Given the description of an element on the screen output the (x, y) to click on. 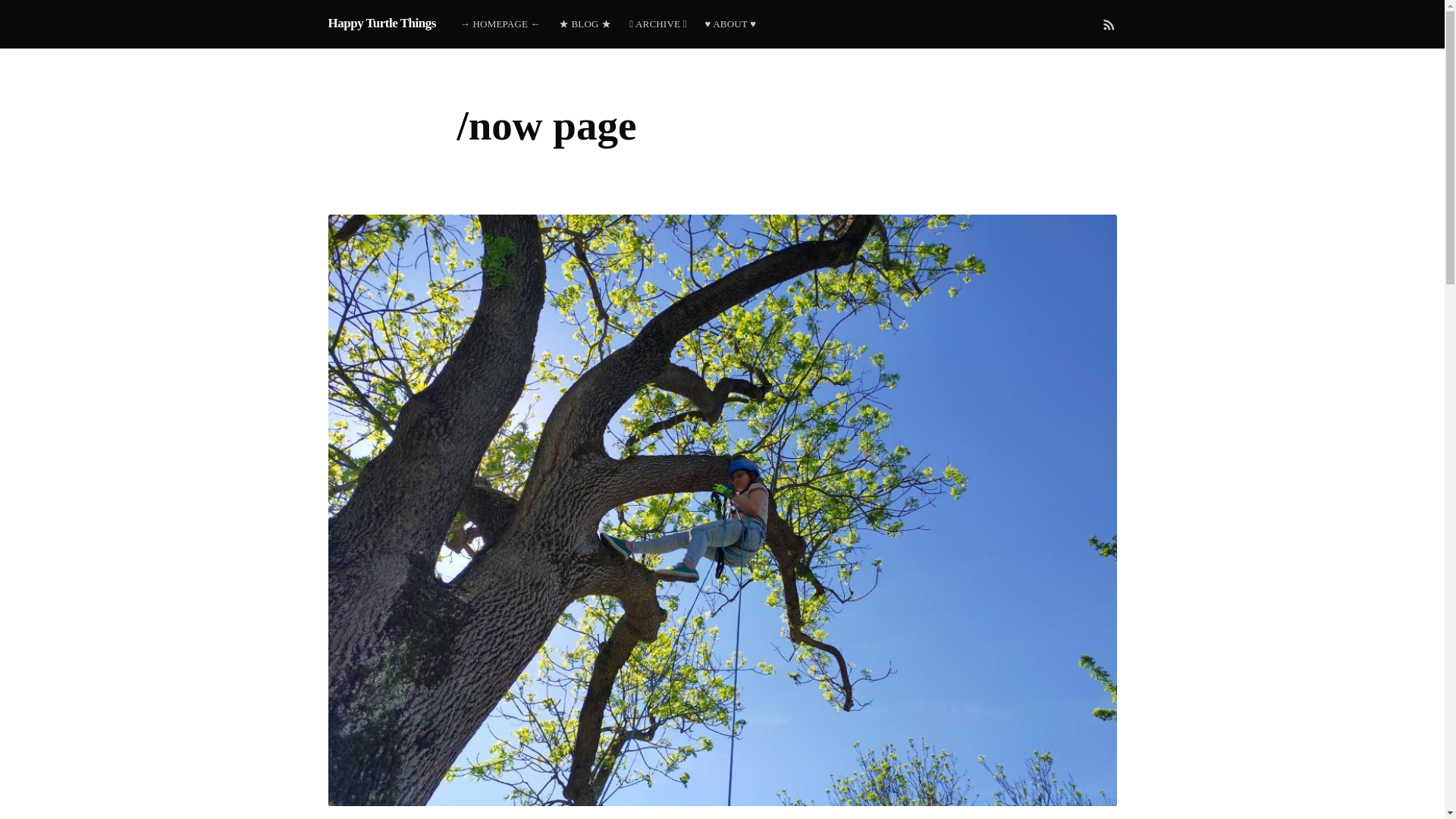
Happy Turtle Things (381, 23)
